Given the description of an element on the screen output the (x, y) to click on. 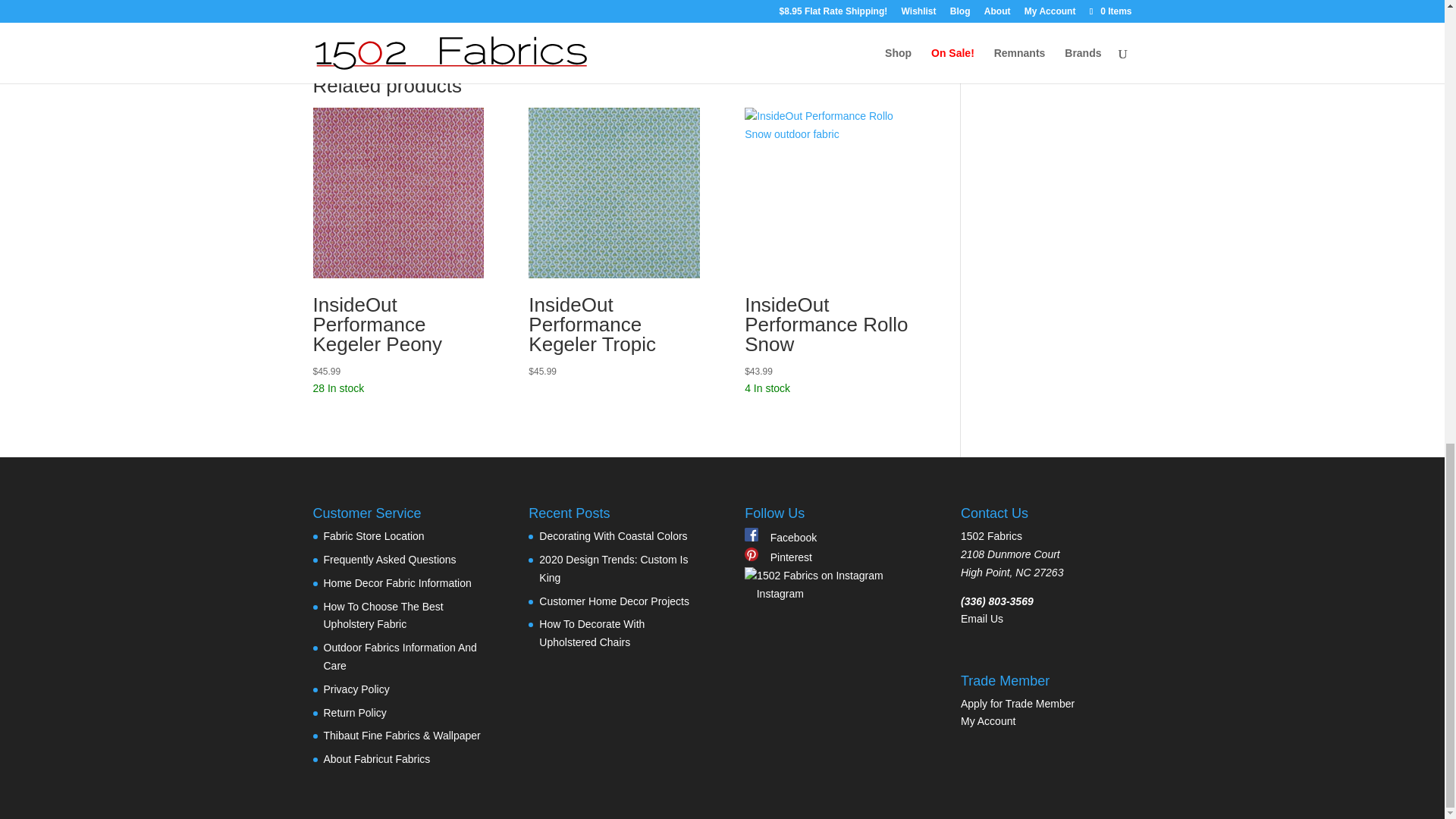
RESET ALL FILTERS (1056, 42)
Customer Home Decor Projects (613, 601)
Decorating With Coastal Colors (612, 535)
How To Decorate With Upholstered Chairs (591, 633)
Outdoor Fabrics Information And Care (399, 656)
Fabric Store Location (373, 535)
Frequently Asked Questions (389, 559)
2020 Design Trends: Custom Is King (612, 568)
Return Policy (354, 712)
Privacy Policy (355, 689)
Home Decor Fabric Information (396, 582)
How To Choose The Best Upholstery Fabric (382, 615)
About Fabricut Fabrics (376, 758)
